Given the description of an element on the screen output the (x, y) to click on. 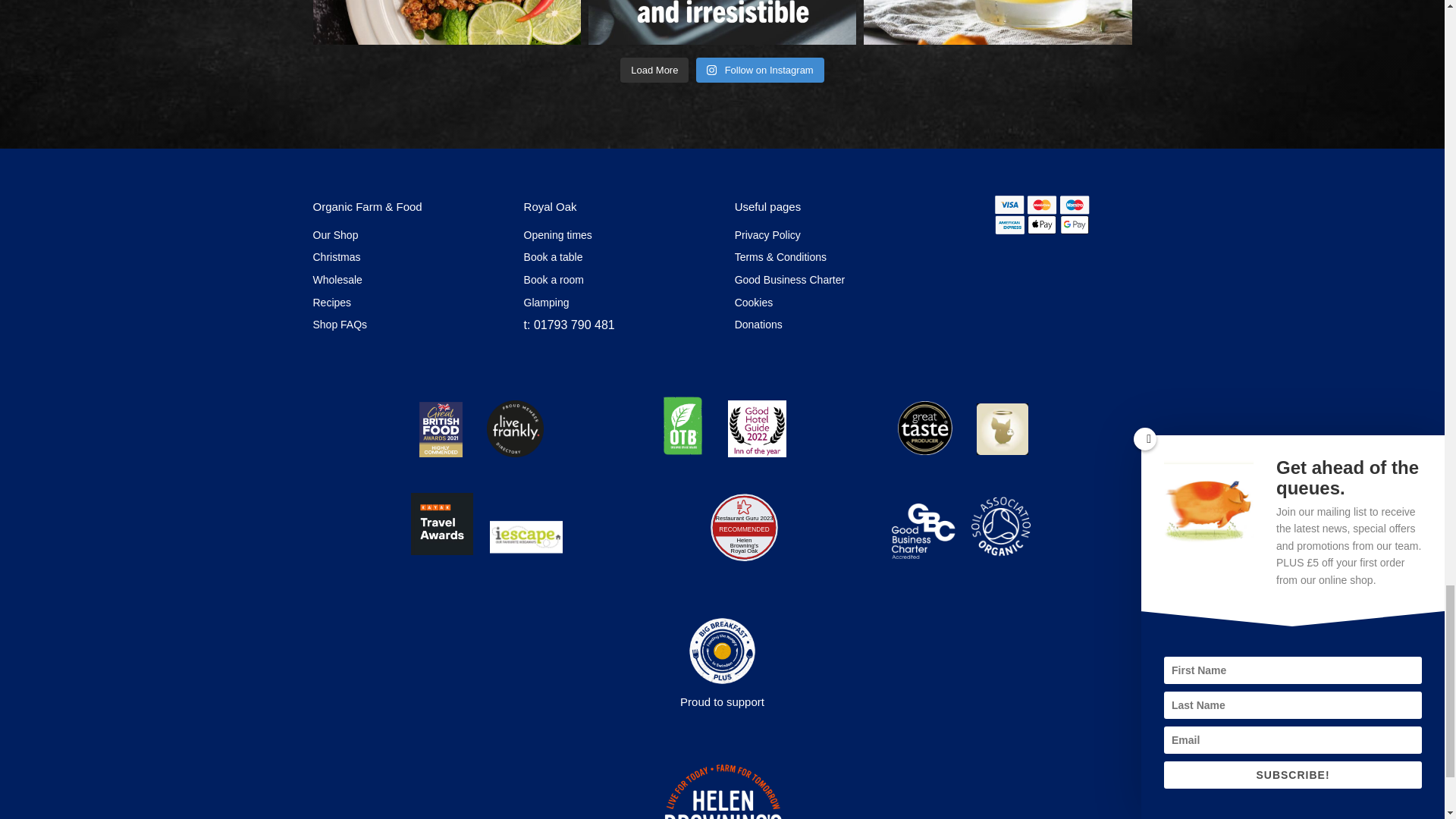
HBO-logo-footer-01 (722, 790)
